Given the description of an element on the screen output the (x, y) to click on. 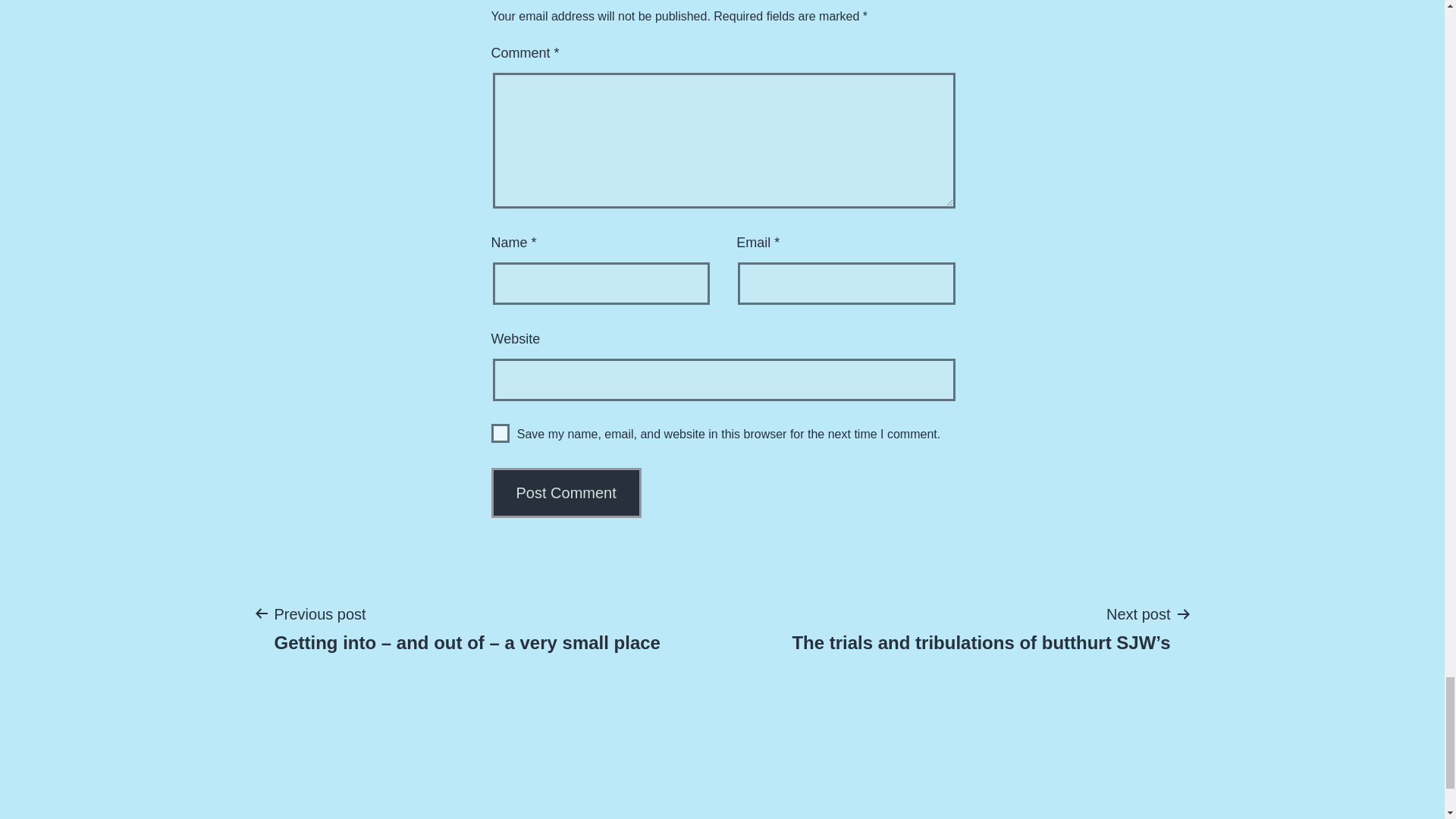
Post Comment (567, 492)
yes (500, 433)
Post Comment (567, 492)
